Given the description of an element on the screen output the (x, y) to click on. 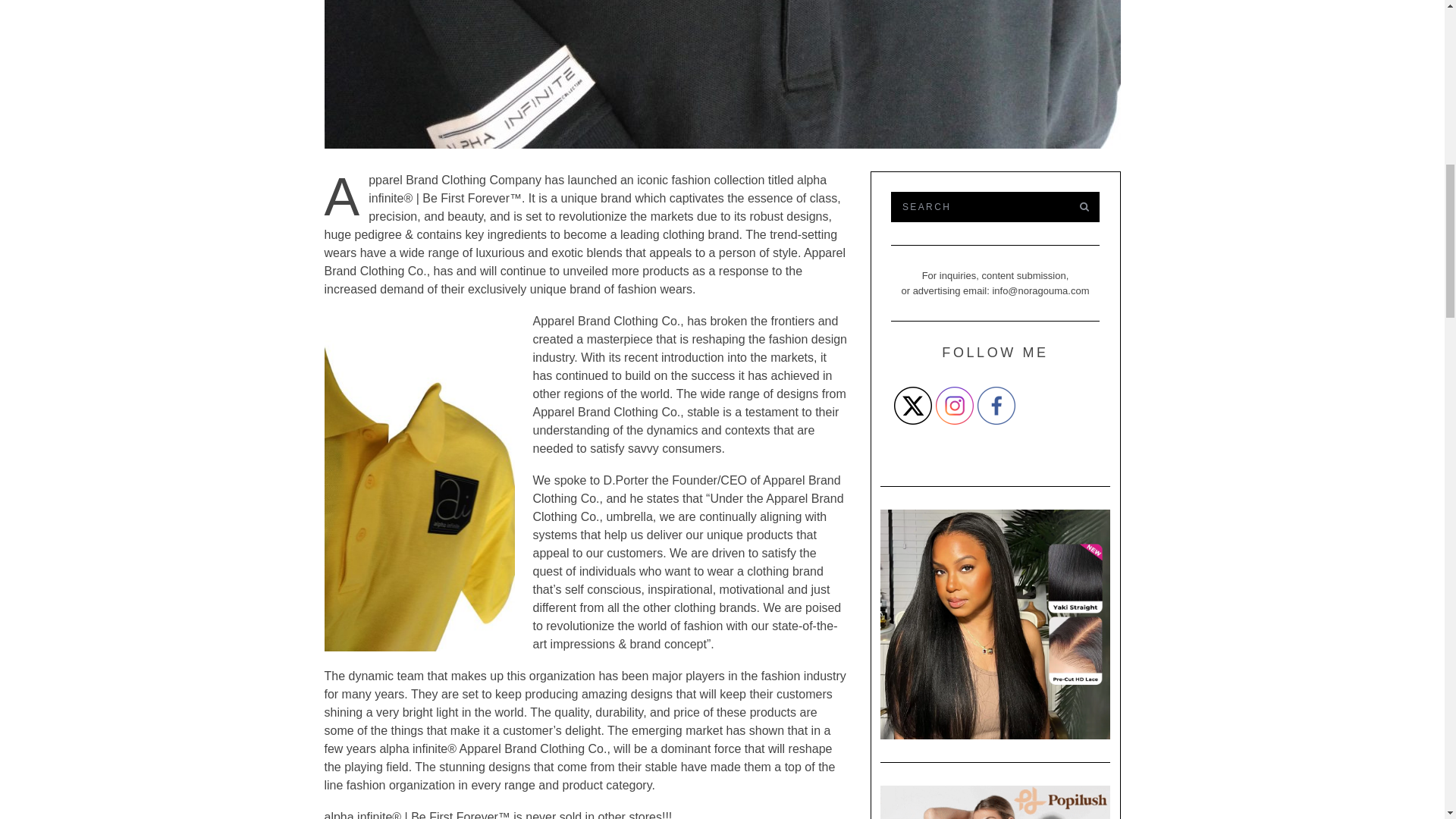
Facebook (995, 405)
Search (976, 206)
Instagram (955, 405)
Twitter (912, 405)
